Given the description of an element on the screen output the (x, y) to click on. 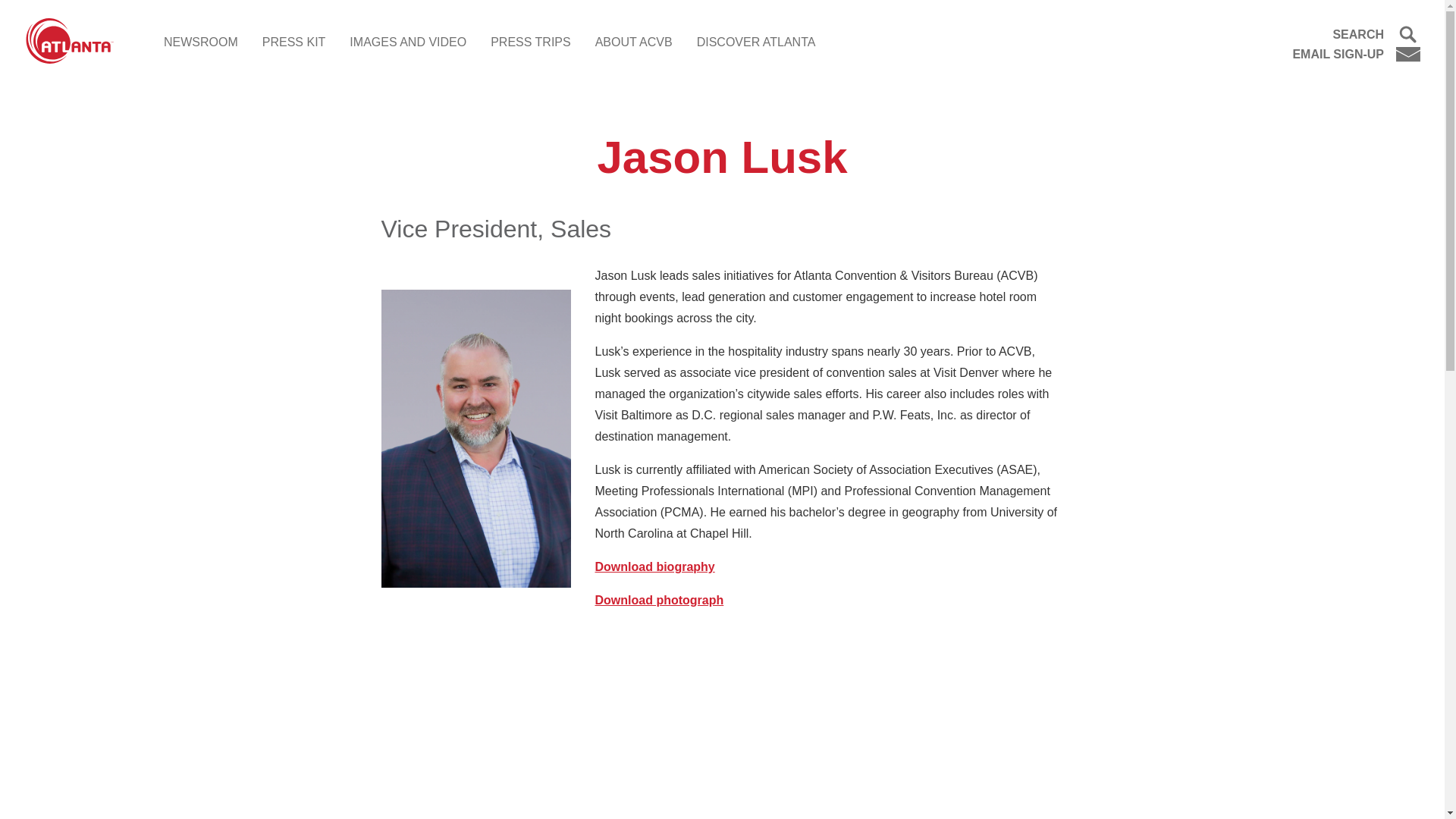
ABOUT ACVB (633, 42)
Download biography (654, 566)
EMAIL SIGN-UP (1356, 53)
PRESS TRIPS (530, 42)
SEARCH (1356, 34)
DISCOVER ATLANTA (756, 42)
IMAGES AND VIDEO (407, 42)
Download photograph (658, 599)
PRESS KIT (294, 42)
NEWSROOM (200, 42)
